Given the description of an element on the screen output the (x, y) to click on. 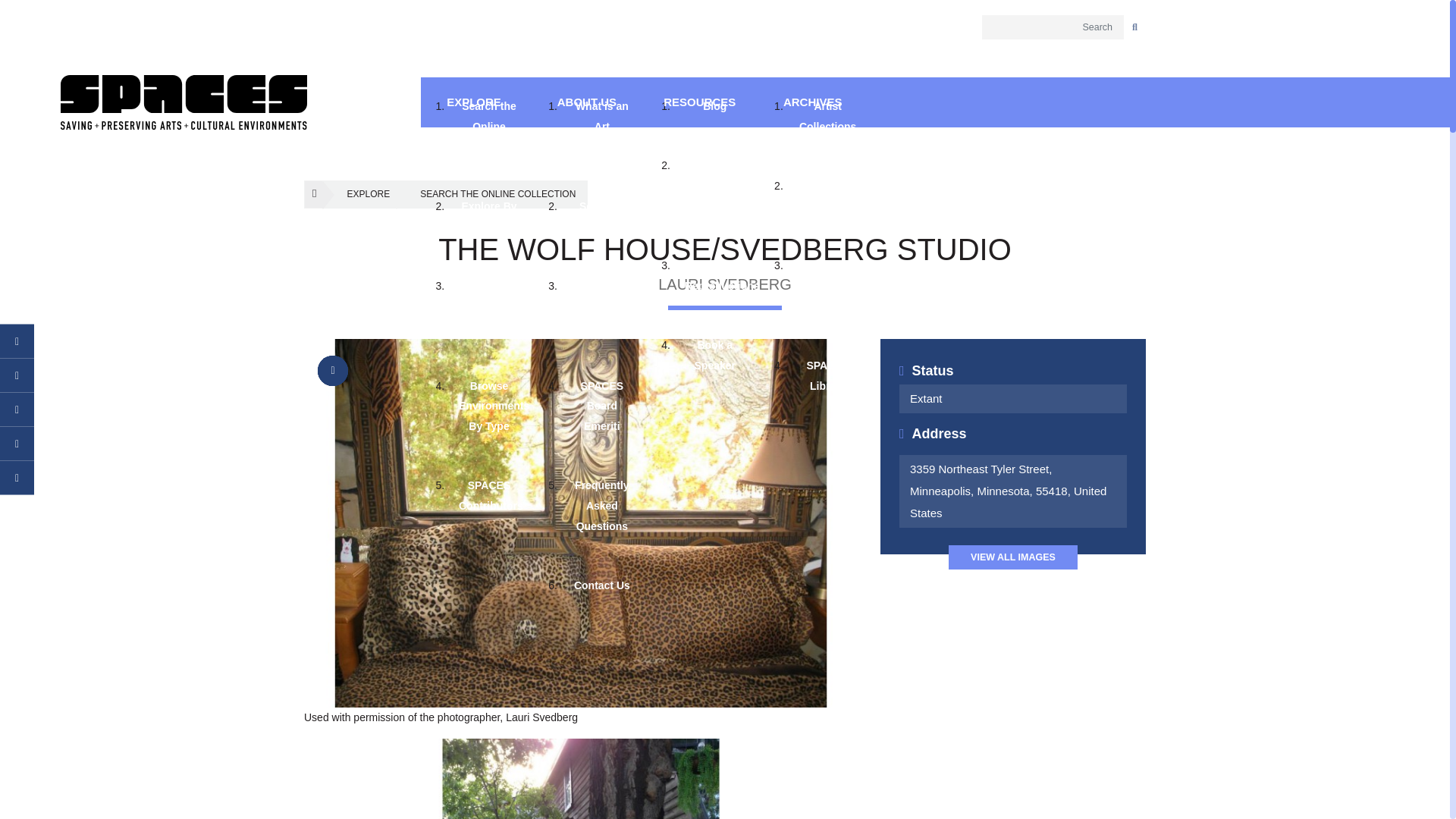
Contact Us (601, 585)
Go to the Explore page (473, 101)
Go to the Book a Speaker page (714, 354)
EXPLORE (473, 101)
ABOUT US (586, 101)
EXPLORE (359, 194)
Go to the Home Page (184, 102)
Archival Collections (827, 196)
Go to the Contact Us page (601, 585)
ARCHIVES (812, 101)
Go to the Archives page (812, 101)
Explore By Map (488, 217)
Go to the About Us page (586, 101)
Seymour Rosen (601, 217)
Go to the SPACES Contributors page (488, 496)
